Given the description of an element on the screen output the (x, y) to click on. 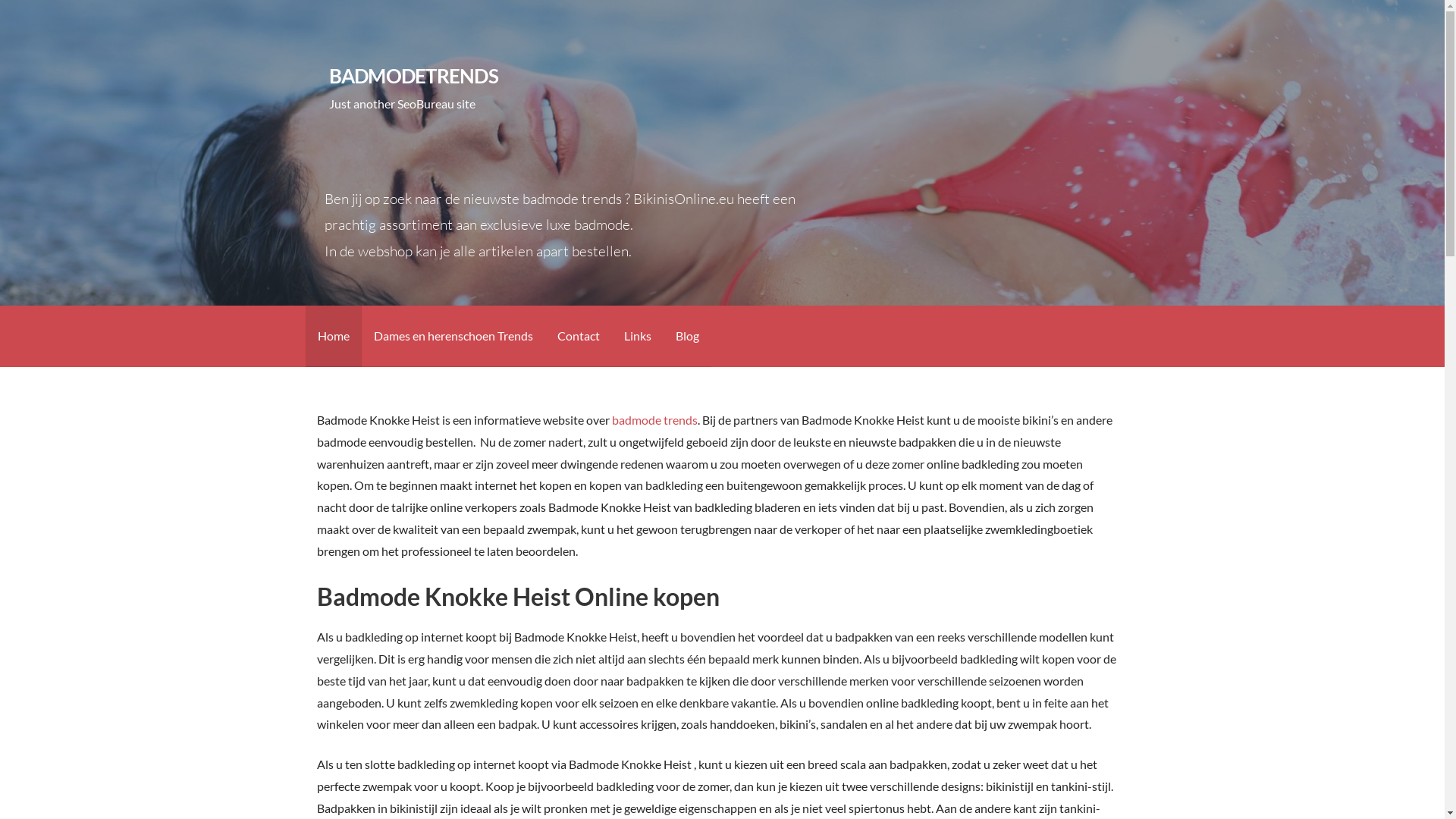
BADMODETRENDS Element type: text (413, 75)
Dames en herenschoen Trends Element type: text (452, 336)
Home Element type: text (332, 336)
Blog Element type: text (686, 336)
Links Element type: text (636, 336)
badmode trends Element type: text (654, 419)
Contact Element type: text (577, 336)
